Given the description of an element on the screen output the (x, y) to click on. 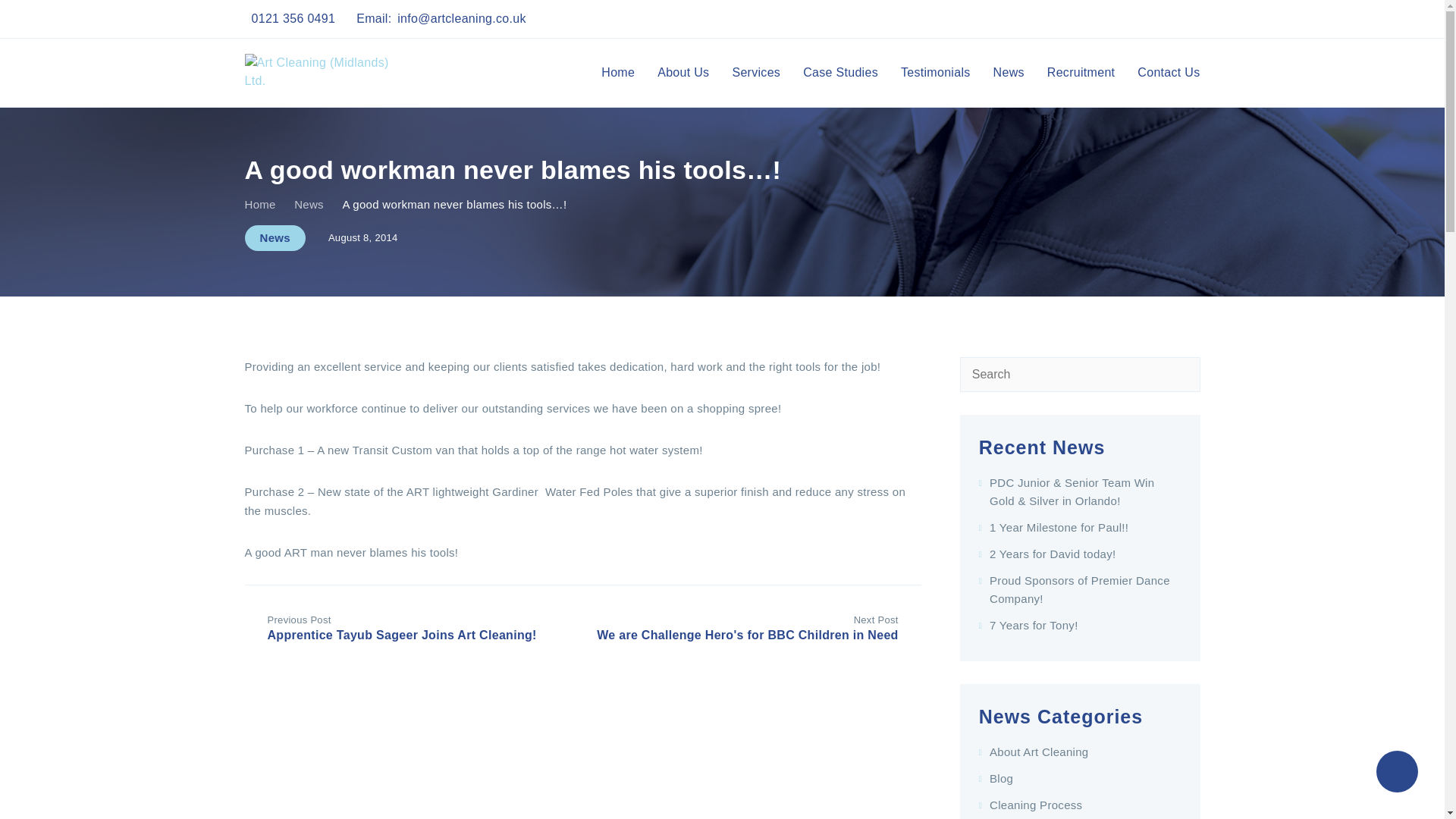
0121 356 0491 (293, 18)
Services (756, 72)
News (274, 237)
Case Studies (840, 72)
About Us (683, 72)
